Given the description of an element on the screen output the (x, y) to click on. 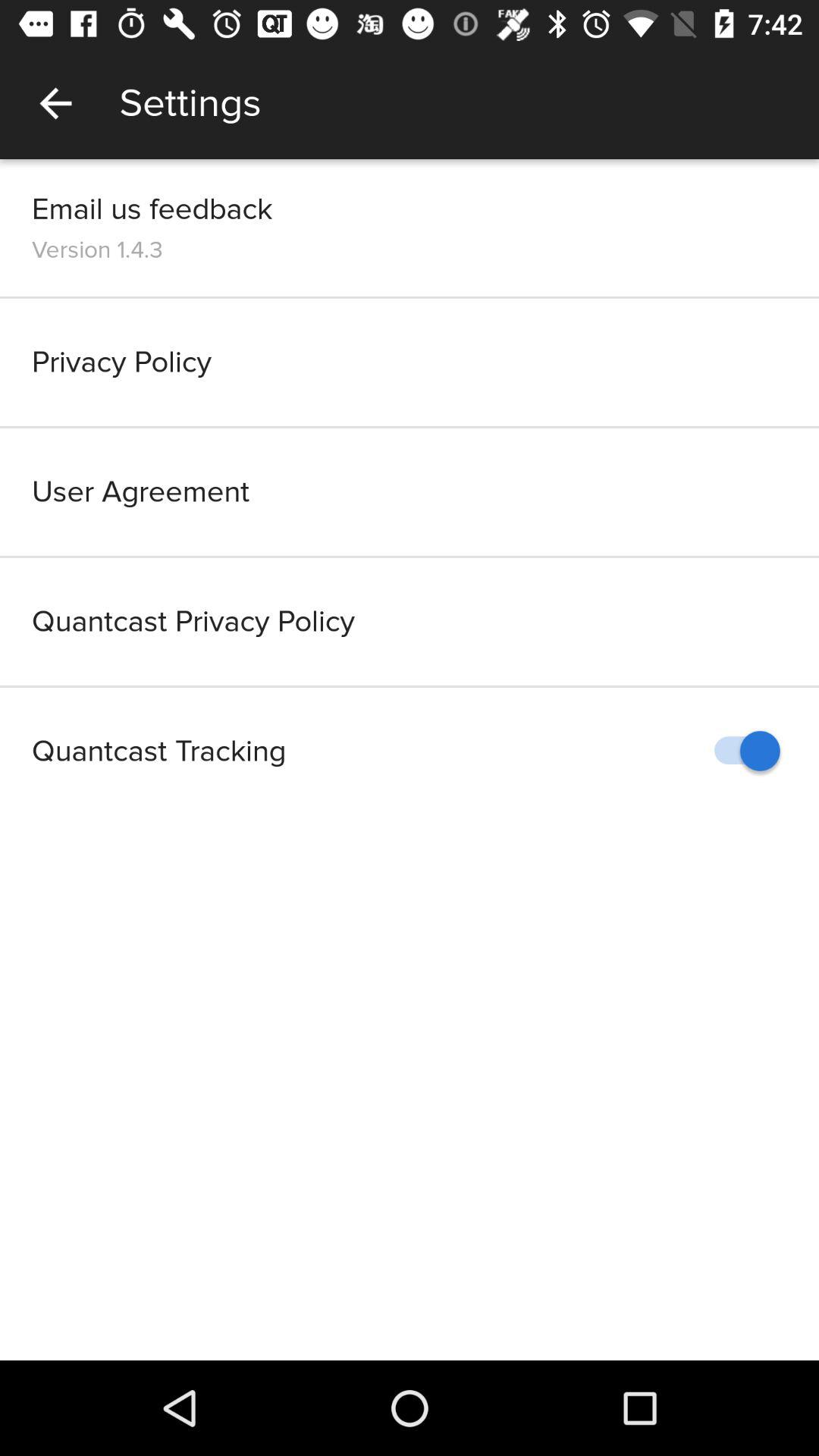
open the item below email us feedback item (96, 249)
